Given the description of an element on the screen output the (x, y) to click on. 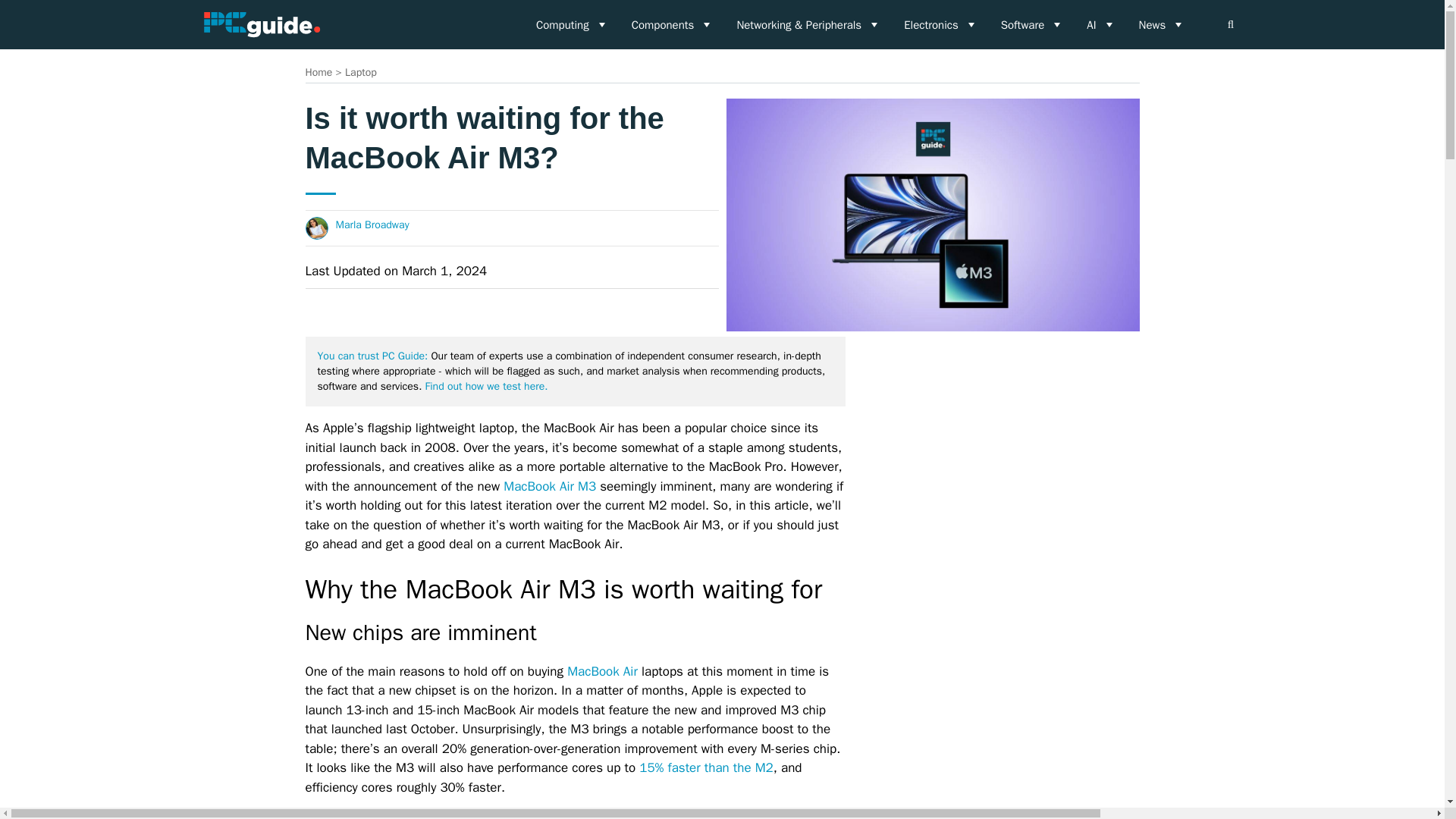
Computing (571, 23)
PC Guide (260, 24)
PC Guide (260, 23)
